Given the description of an element on the screen output the (x, y) to click on. 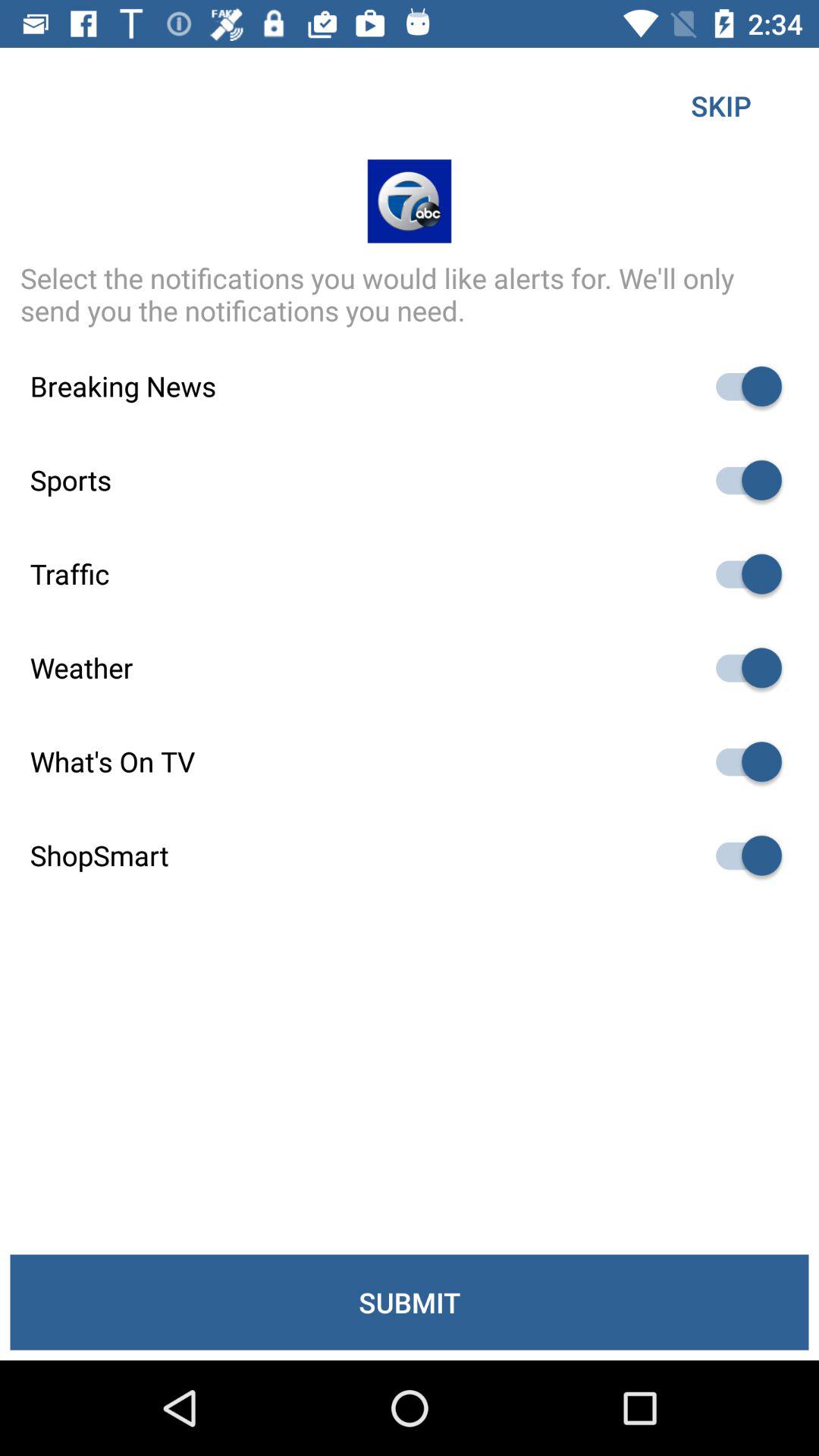
flip until skip icon (720, 105)
